Given the description of an element on the screen output the (x, y) to click on. 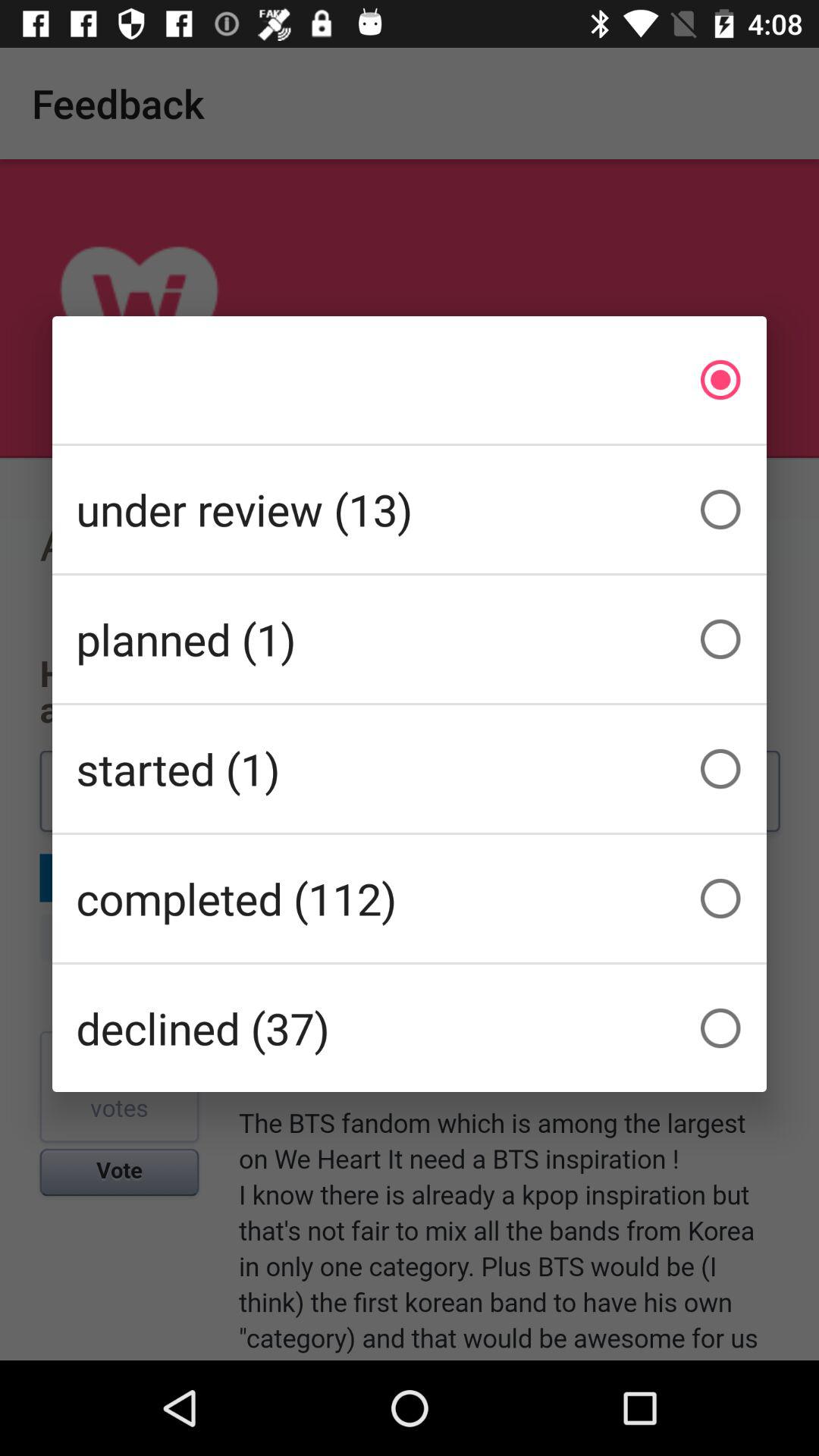
click the declined (37) icon (409, 1028)
